Given the description of an element on the screen output the (x, y) to click on. 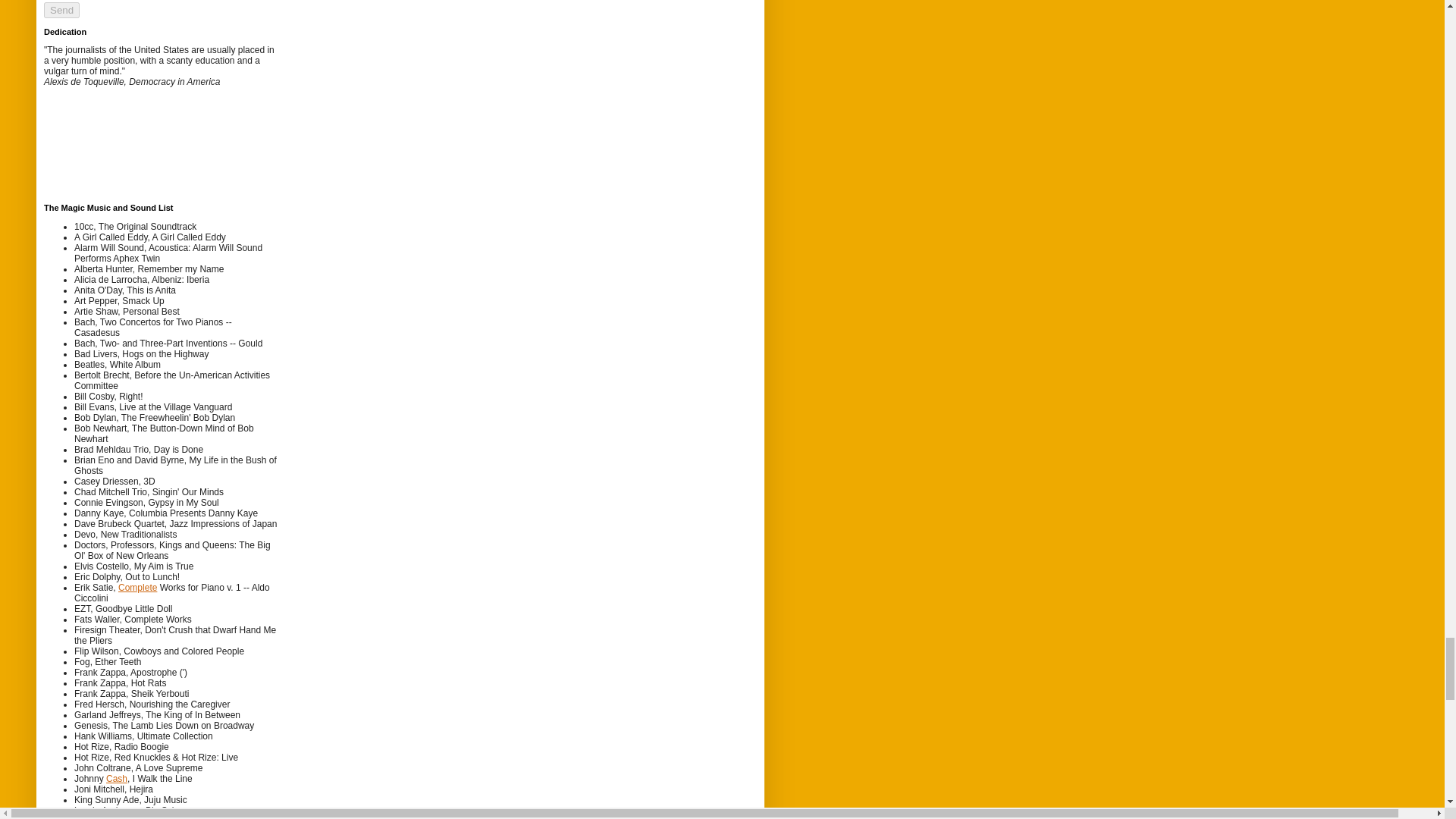
Send (61, 10)
